Given the description of an element on the screen output the (x, y) to click on. 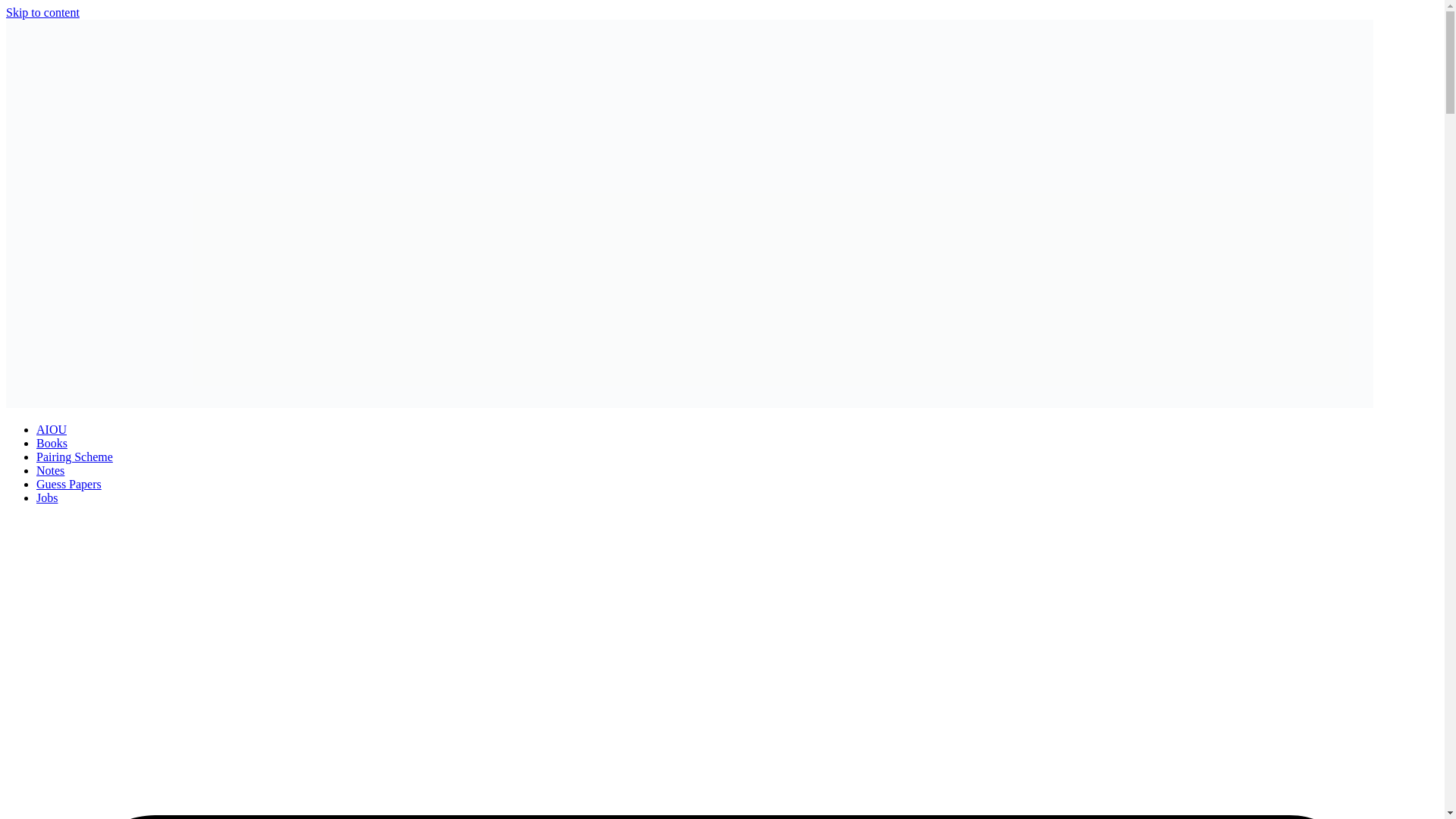
Skip to content (42, 11)
Notes (50, 470)
Skip to content (42, 11)
Pairing Scheme (74, 456)
Guess Papers (68, 483)
AIOU (51, 429)
Books (51, 442)
Jobs (47, 497)
